Given the description of an element on the screen output the (x, y) to click on. 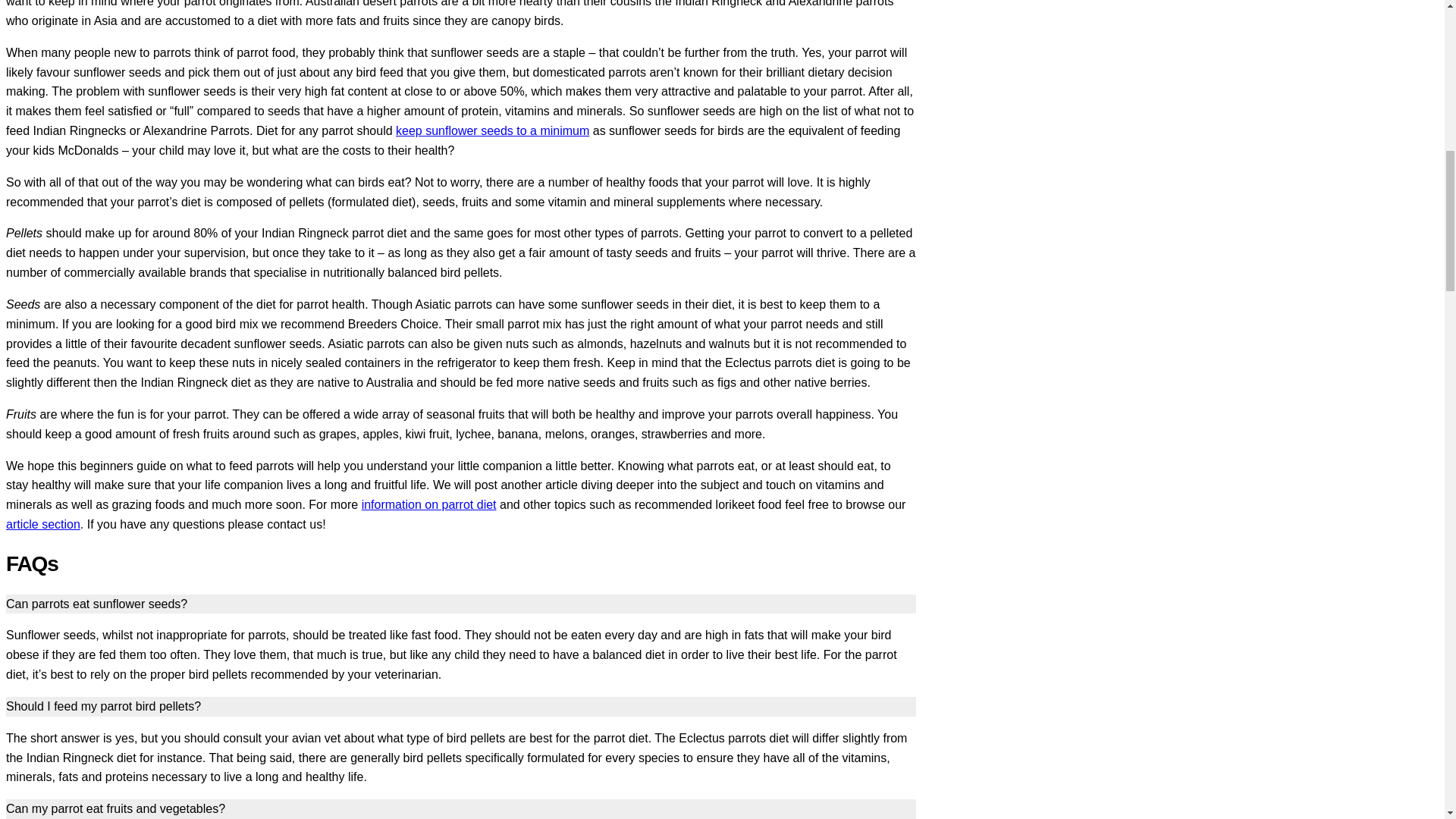
information on parrot diet (428, 504)
keep sunflower seeds to a minimum (492, 130)
article section (42, 523)
